Given the description of an element on the screen output the (x, y) to click on. 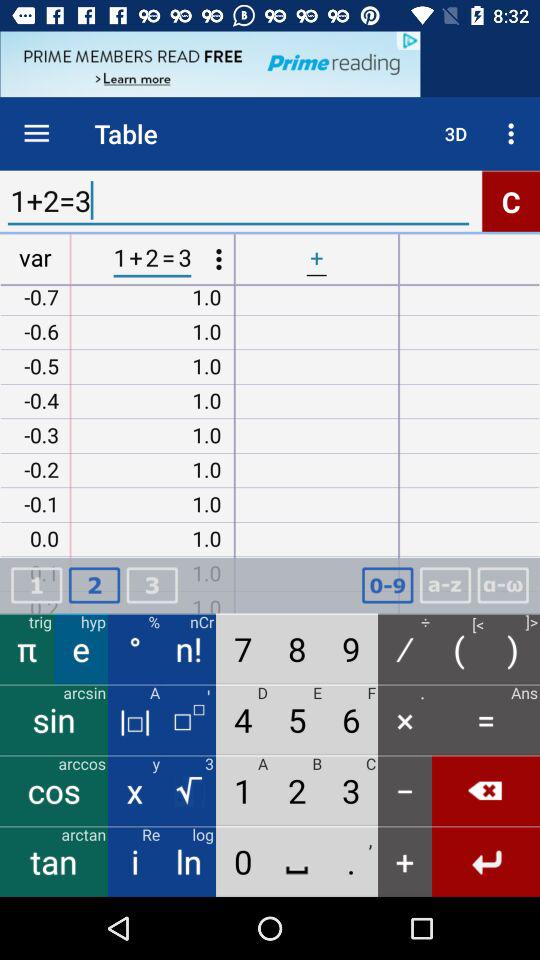
symbols option (503, 585)
